Given the description of an element on the screen output the (x, y) to click on. 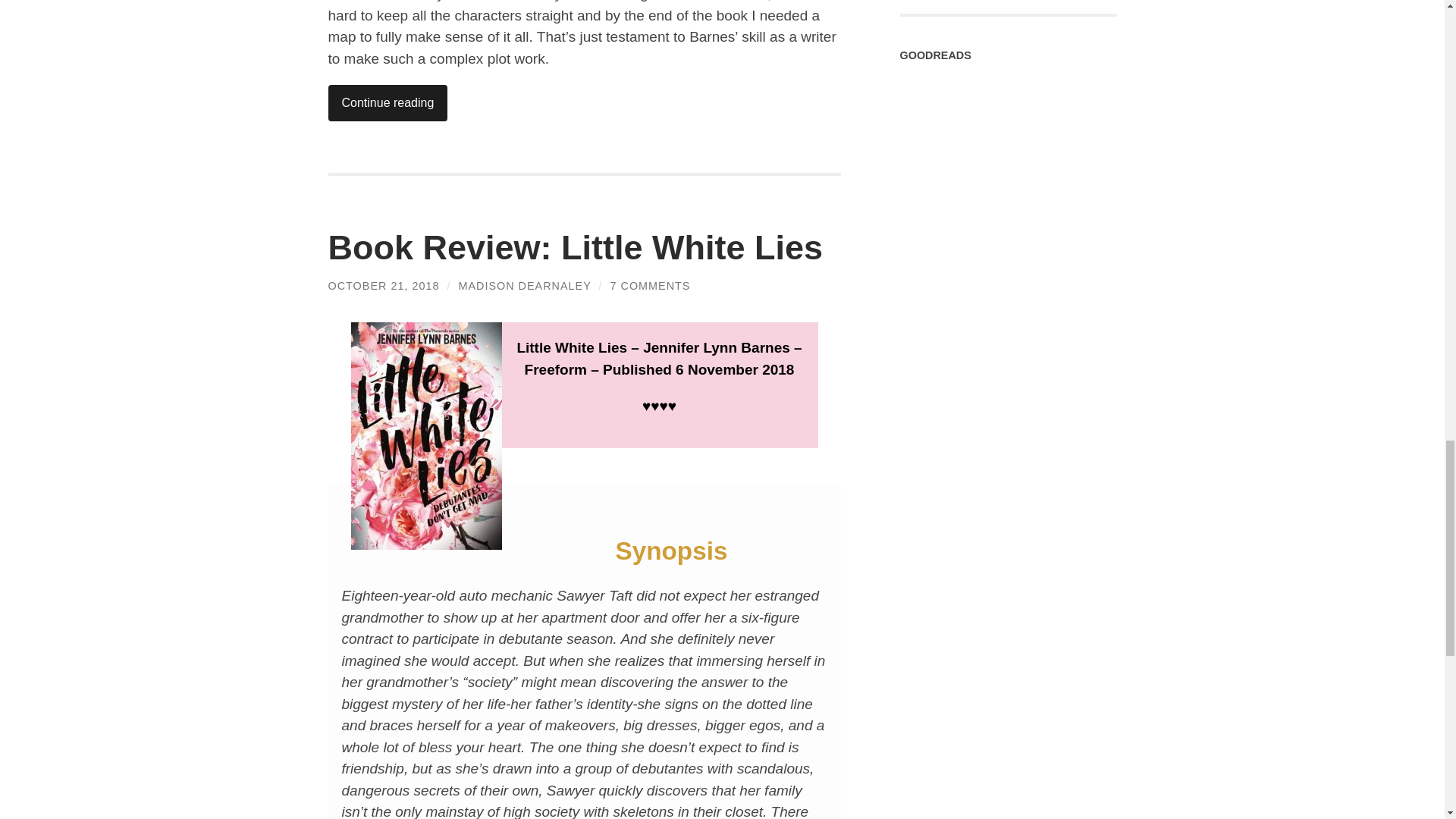
Posts by Madison Dearnaley (524, 285)
